Given the description of an element on the screen output the (x, y) to click on. 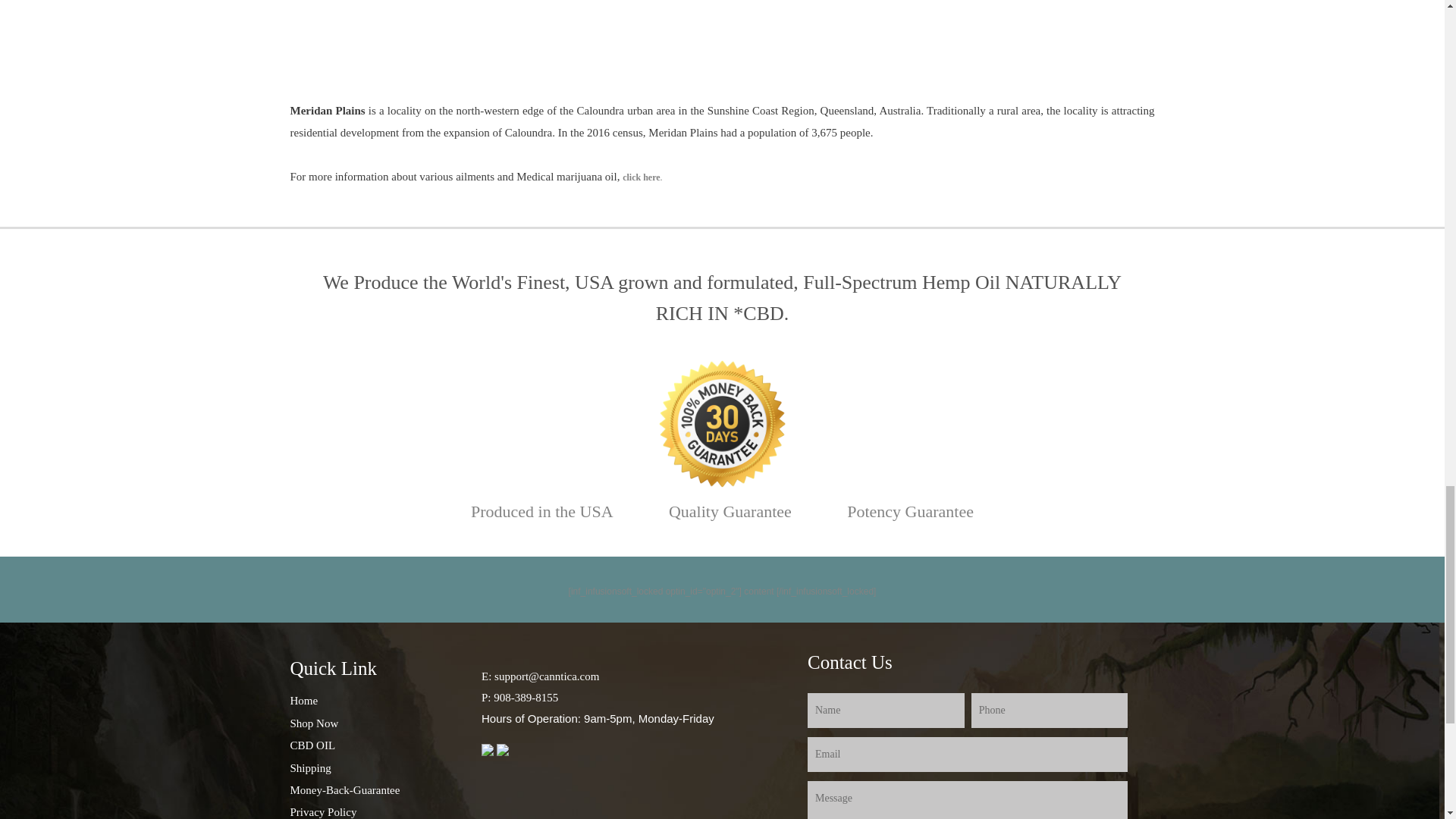
click here. (642, 176)
